Given the description of an element on the screen output the (x, y) to click on. 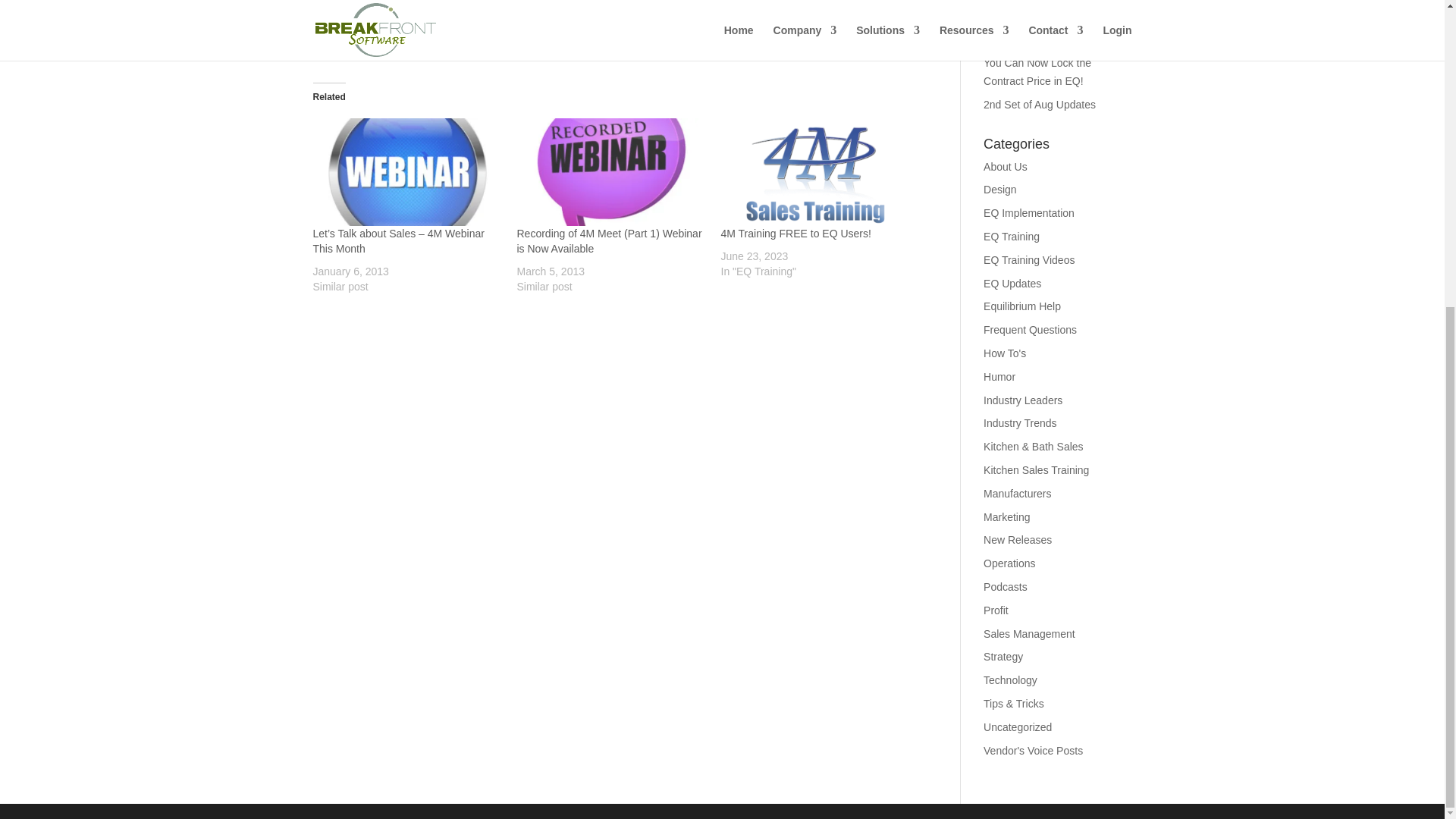
4M Training FREE to EQ Users! (795, 233)
4M Training FREE to EQ Users! (795, 233)
4M Training FREE to EQ Users! (814, 171)
